Given the description of an element on the screen output the (x, y) to click on. 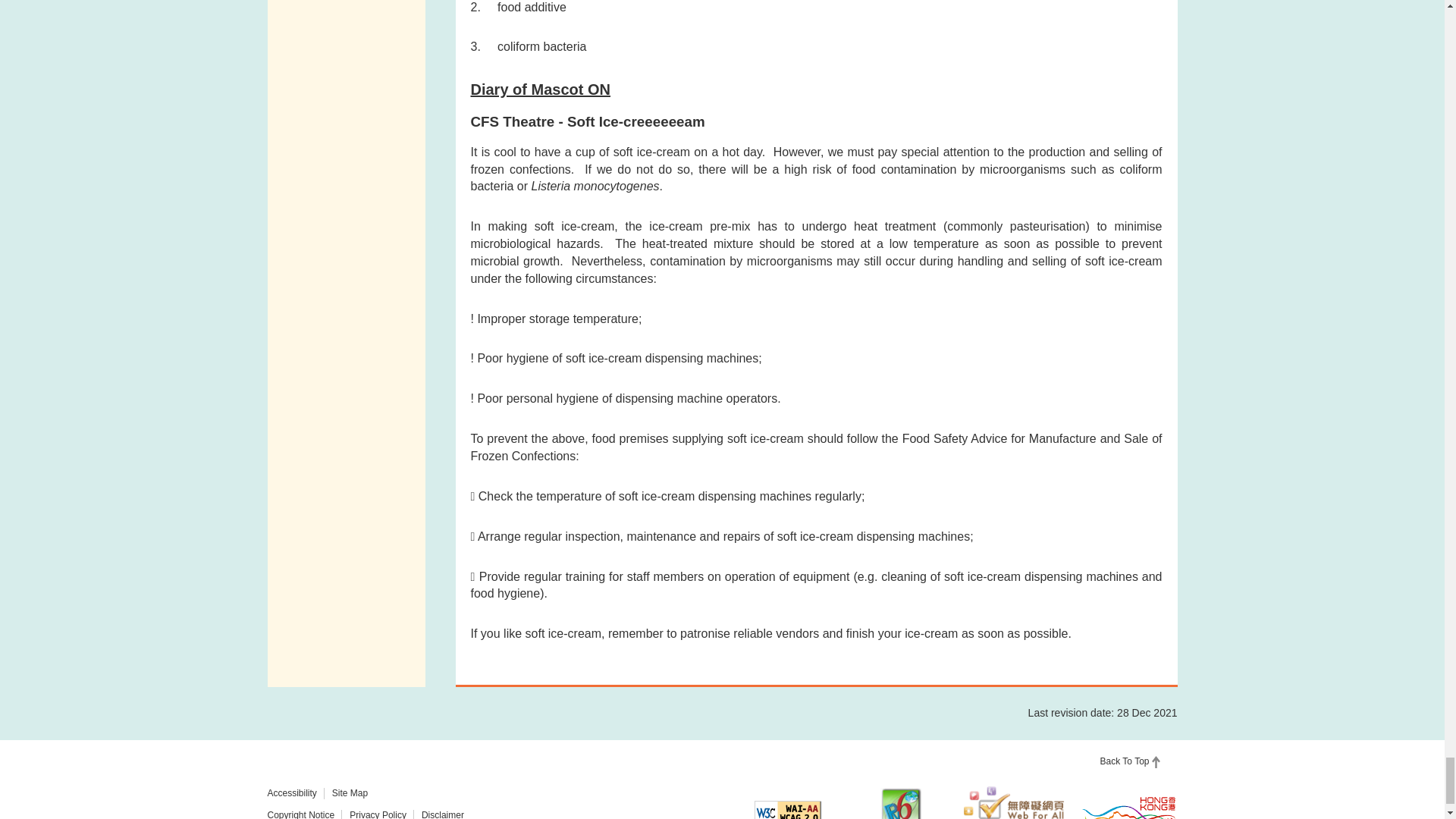
This website is IPv6 enabled (901, 803)
Explanation of WCAG 2.0 Level Double-A Conformance (787, 809)
